Given the description of an element on the screen output the (x, y) to click on. 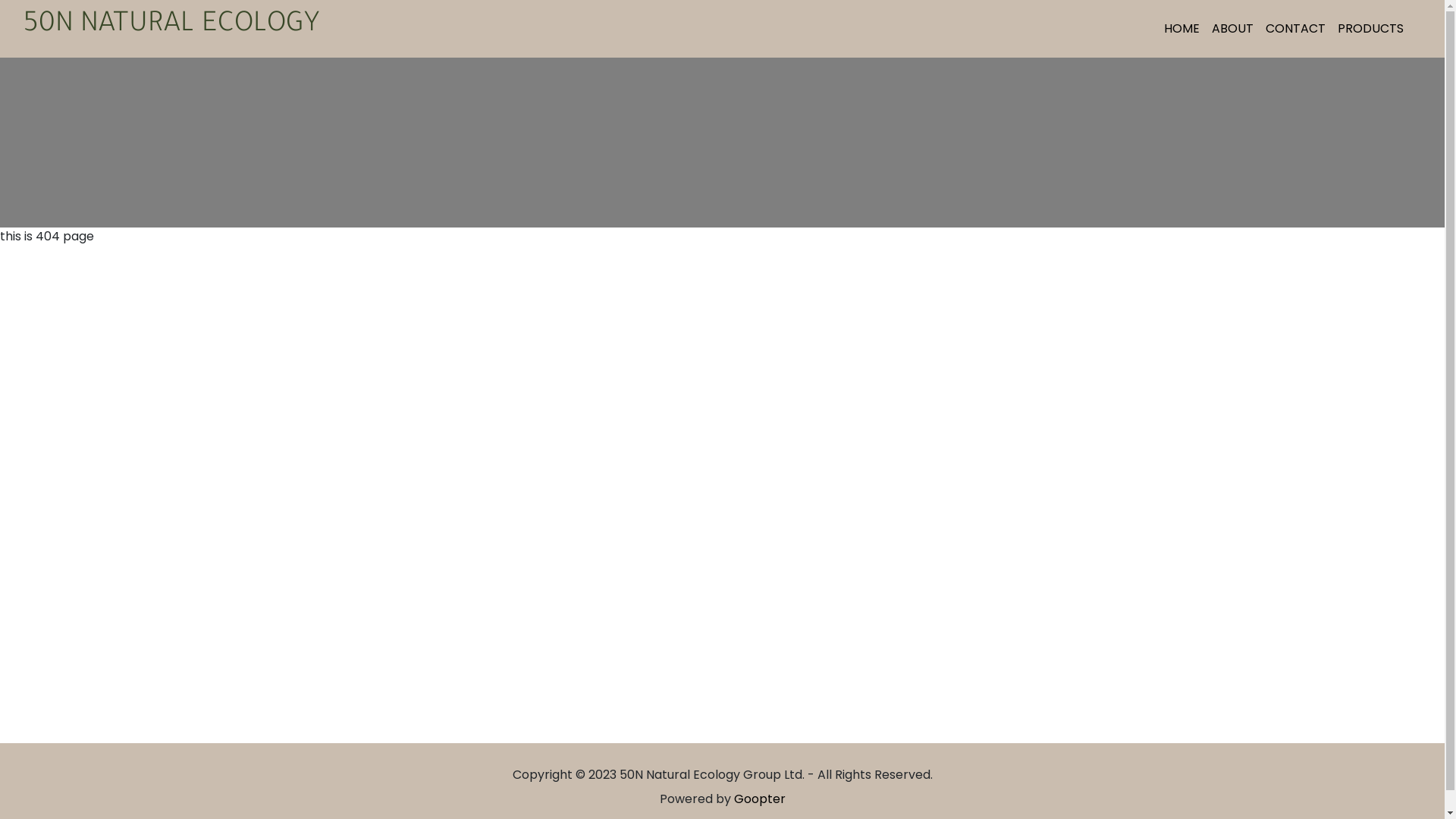
PRODUCTS Element type: text (1370, 28)
ABOUT Element type: text (1232, 28)
CONTACT Element type: text (1295, 28)
HOME Element type: text (1181, 28)
Goopter Element type: text (759, 798)
